Given the description of an element on the screen output the (x, y) to click on. 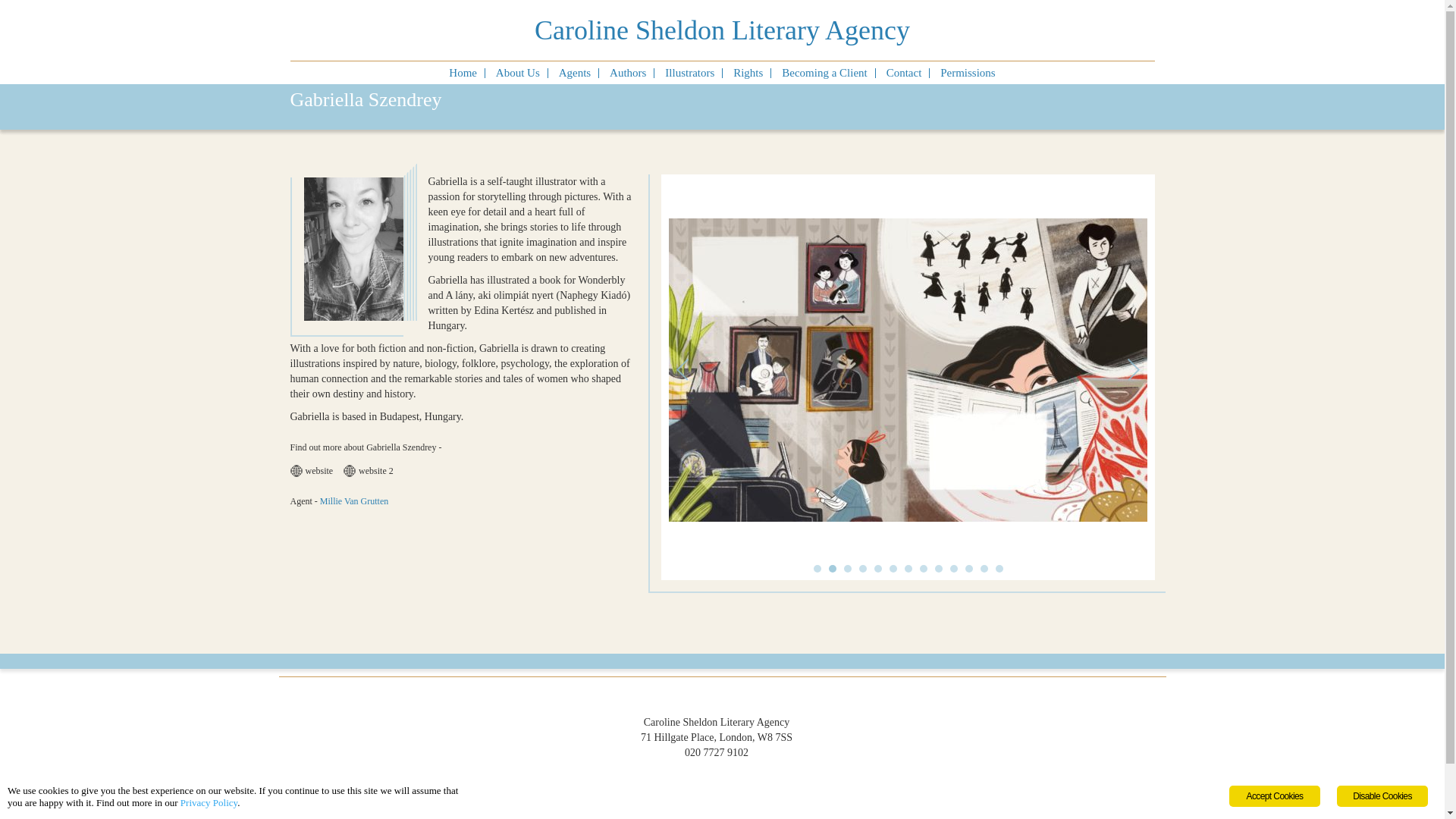
Authors (628, 72)
Illustrators (689, 72)
website 2 (372, 469)
Millie Van Grutten (358, 501)
About Us (518, 72)
Home (462, 72)
Caroline Sheldon Literary Agency (721, 30)
Permissions (967, 72)
Agents (575, 72)
website (314, 469)
Becoming a Client (823, 72)
Contact (903, 72)
Rights (747, 72)
Disable Cookies (1382, 795)
Accept Cookies (1274, 795)
